Given the description of an element on the screen output the (x, y) to click on. 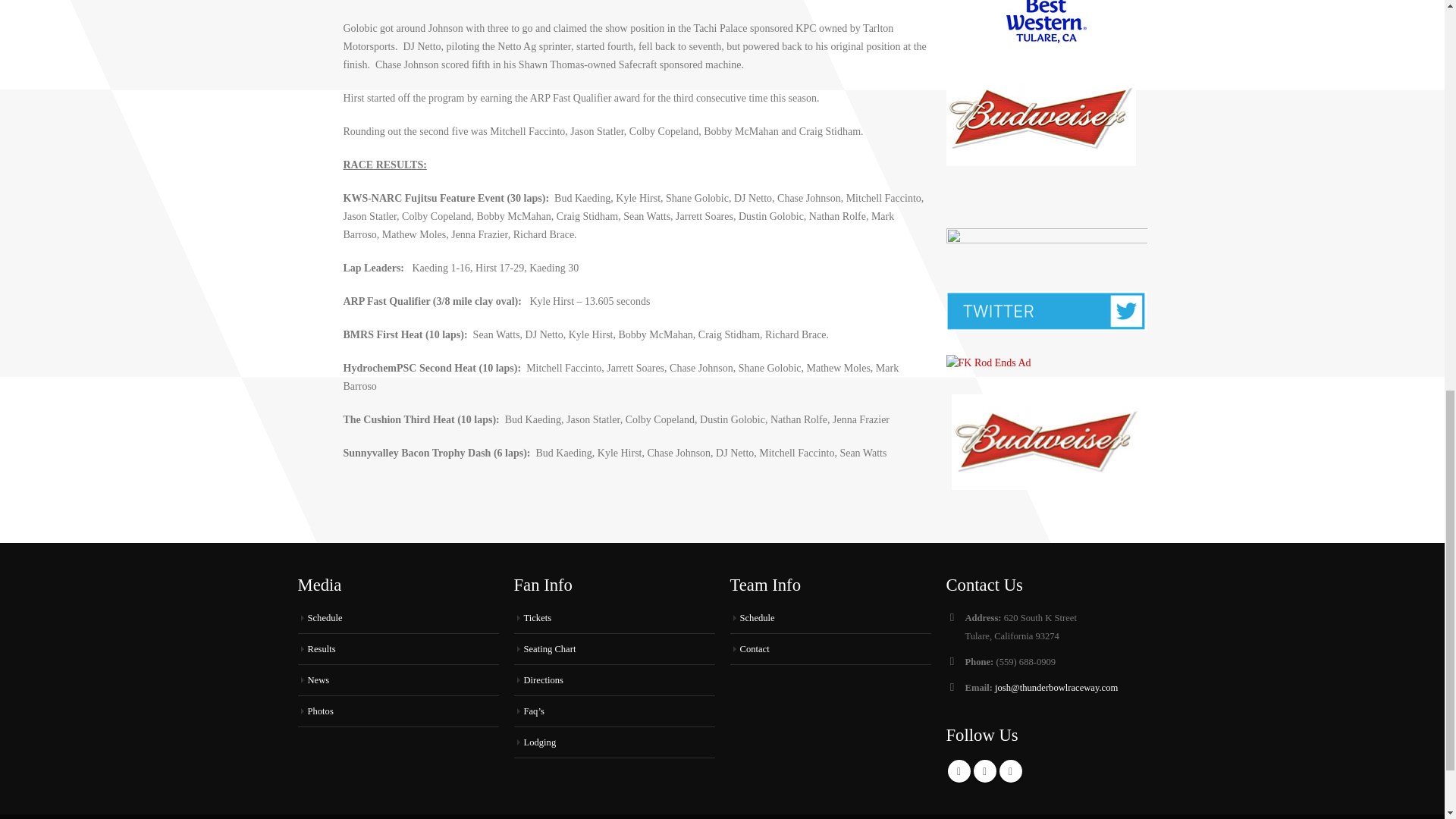
FK Rod Ends Ad (988, 362)
